Given the description of an element on the screen output the (x, y) to click on. 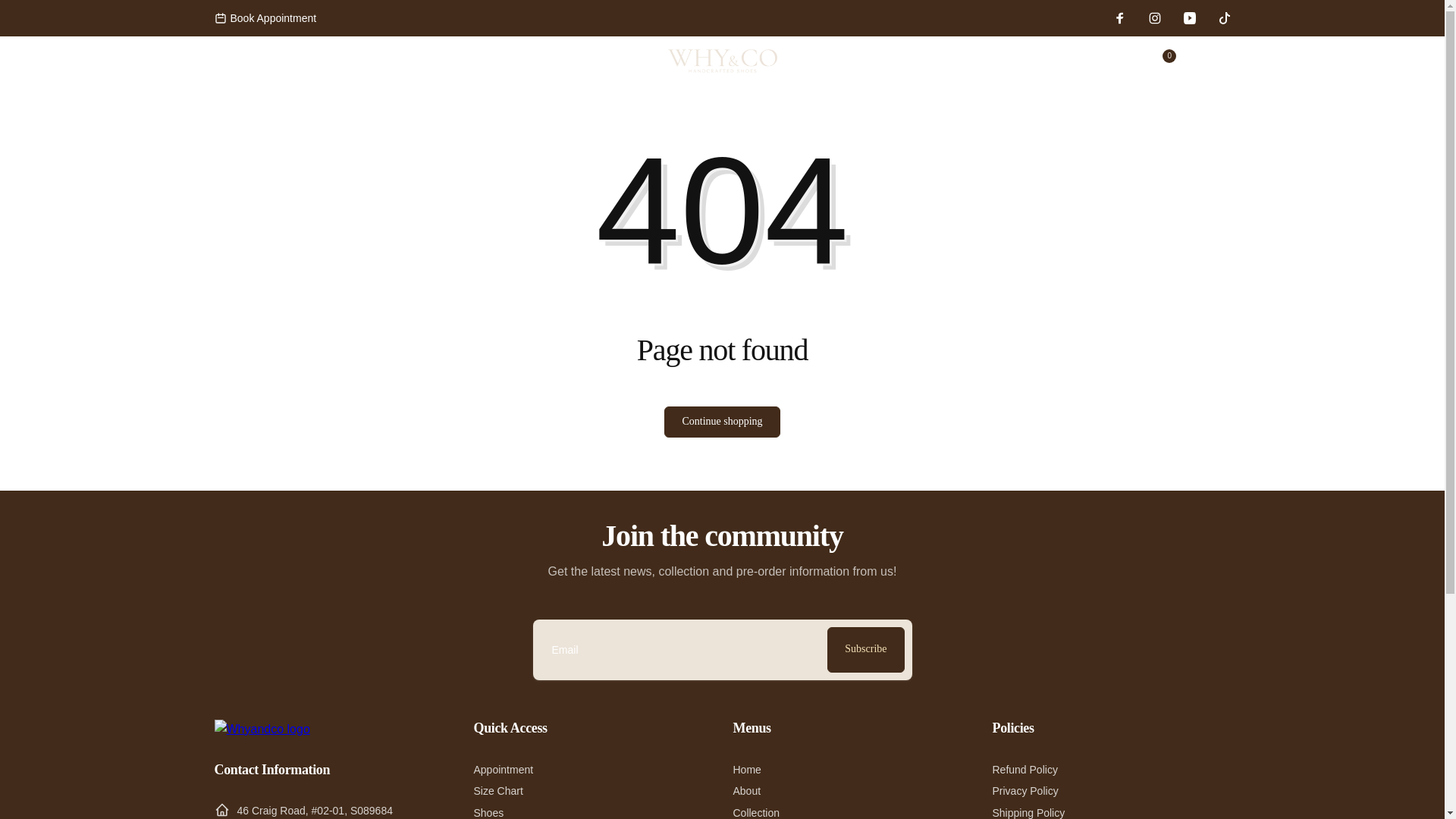
Facebook (1119, 18)
Skip to content (16, 8)
Size Chart (497, 790)
TikTok (1223, 18)
Book Appointment (264, 17)
Shoes (488, 810)
Continue shopping (720, 421)
YouTube (1188, 18)
Subscribe (865, 649)
Log in (1120, 60)
